Given the description of an element on the screen output the (x, y) to click on. 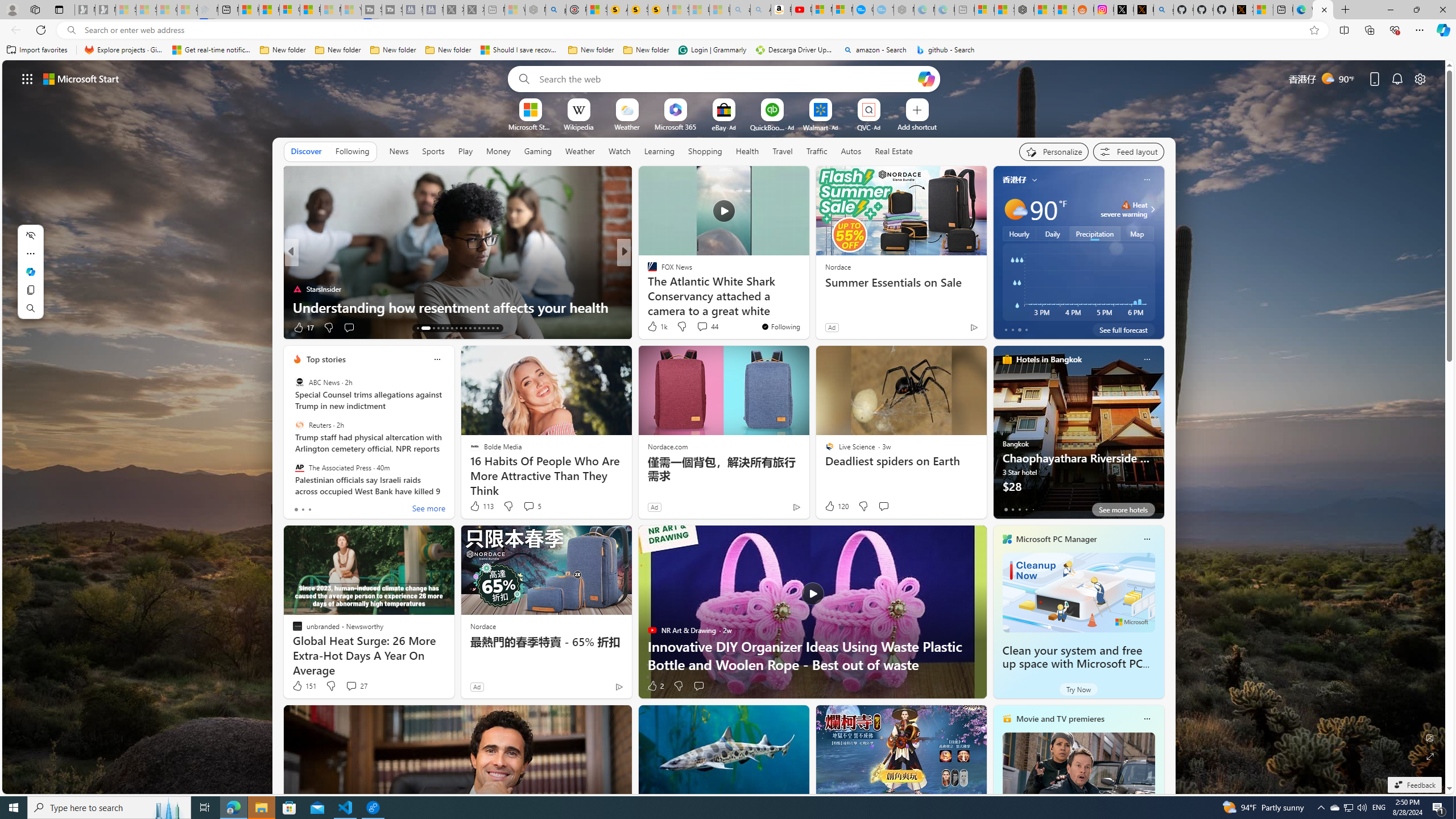
View comments 77 Comment (707, 327)
Autos (850, 151)
Hourly (1018, 233)
View comments 27 Comment (355, 685)
View comments 3 Comment (698, 327)
1k Like (656, 326)
Sports (432, 151)
46 Like (652, 327)
Class: icon-img (1146, 718)
View comments 77 Comment (703, 327)
View comments 3 Comment (702, 327)
More options (1146, 718)
News (398, 151)
